Given the description of an element on the screen output the (x, y) to click on. 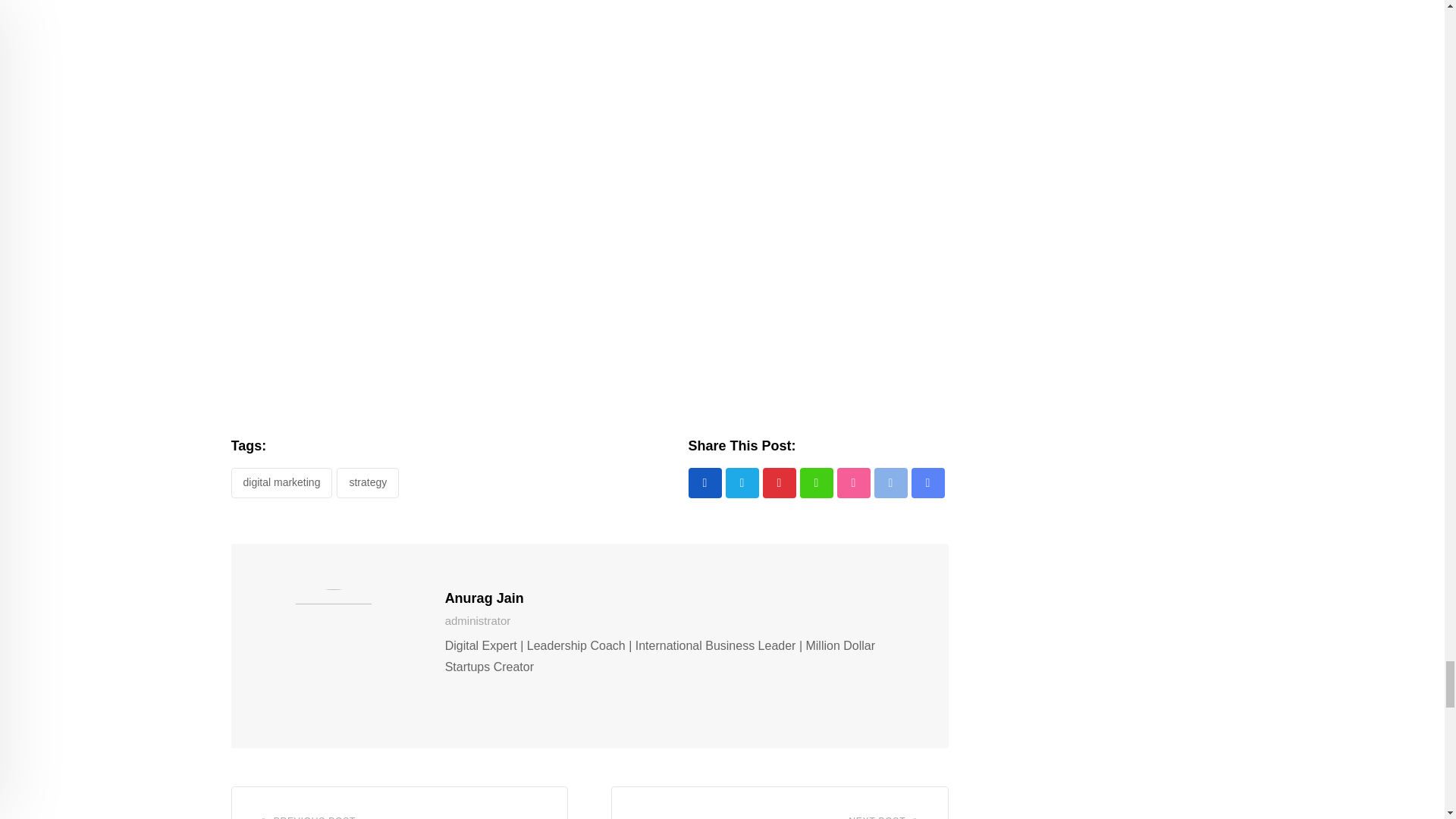
Posts by Anurag Jain (484, 598)
